Given the description of an element on the screen output the (x, y) to click on. 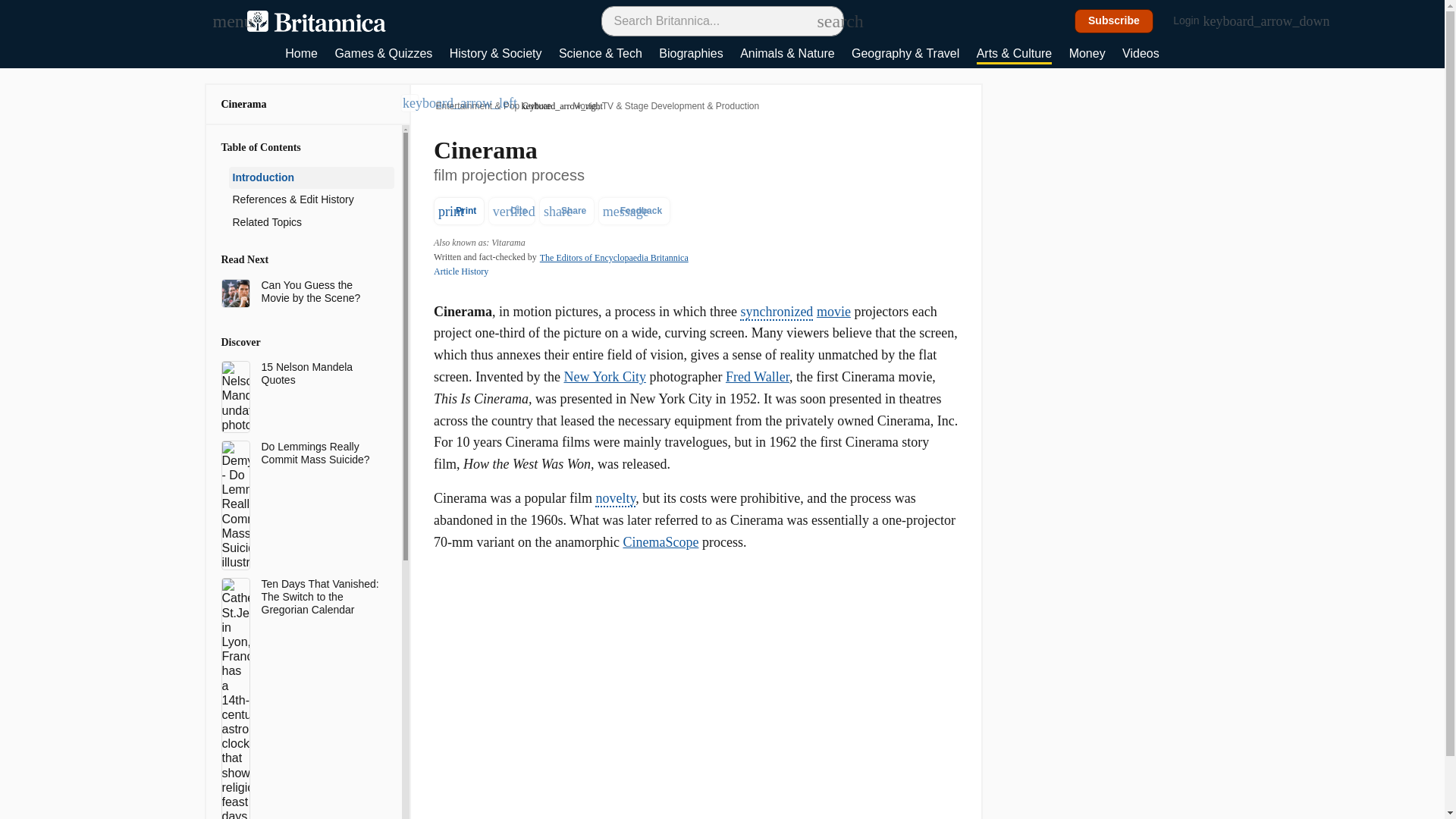
Login (1194, 20)
Click here to search (825, 20)
Subscribe (1114, 21)
